Given the description of an element on the screen output the (x, y) to click on. 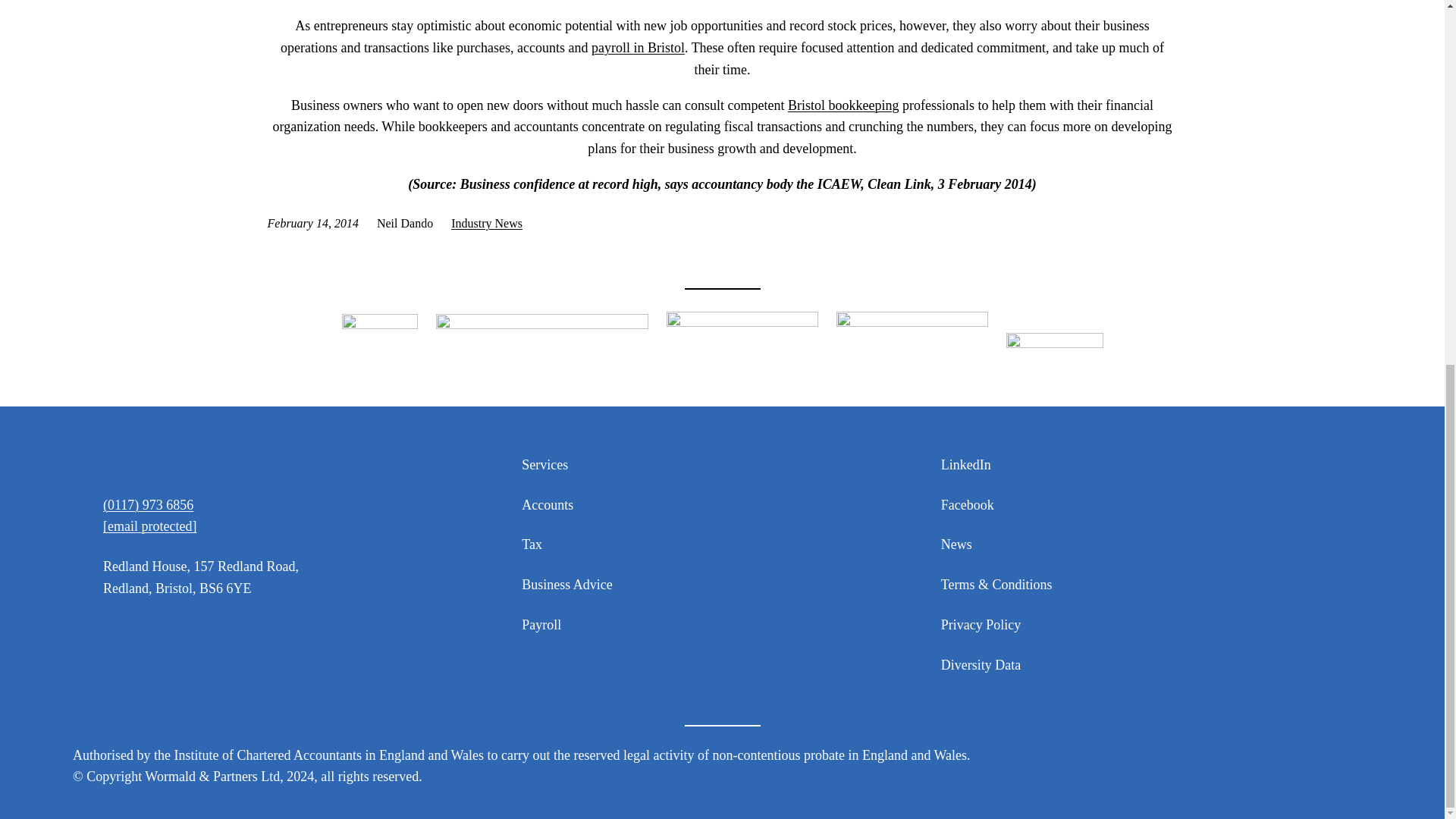
Payroll (540, 625)
Bristol bookkeeping (843, 105)
Privacy Policy (981, 625)
Tax (531, 544)
Services (544, 464)
Accounts (547, 505)
News (956, 544)
Business Advice (566, 585)
Industry News (486, 223)
LinkedIn (965, 464)
